Given the description of an element on the screen output the (x, y) to click on. 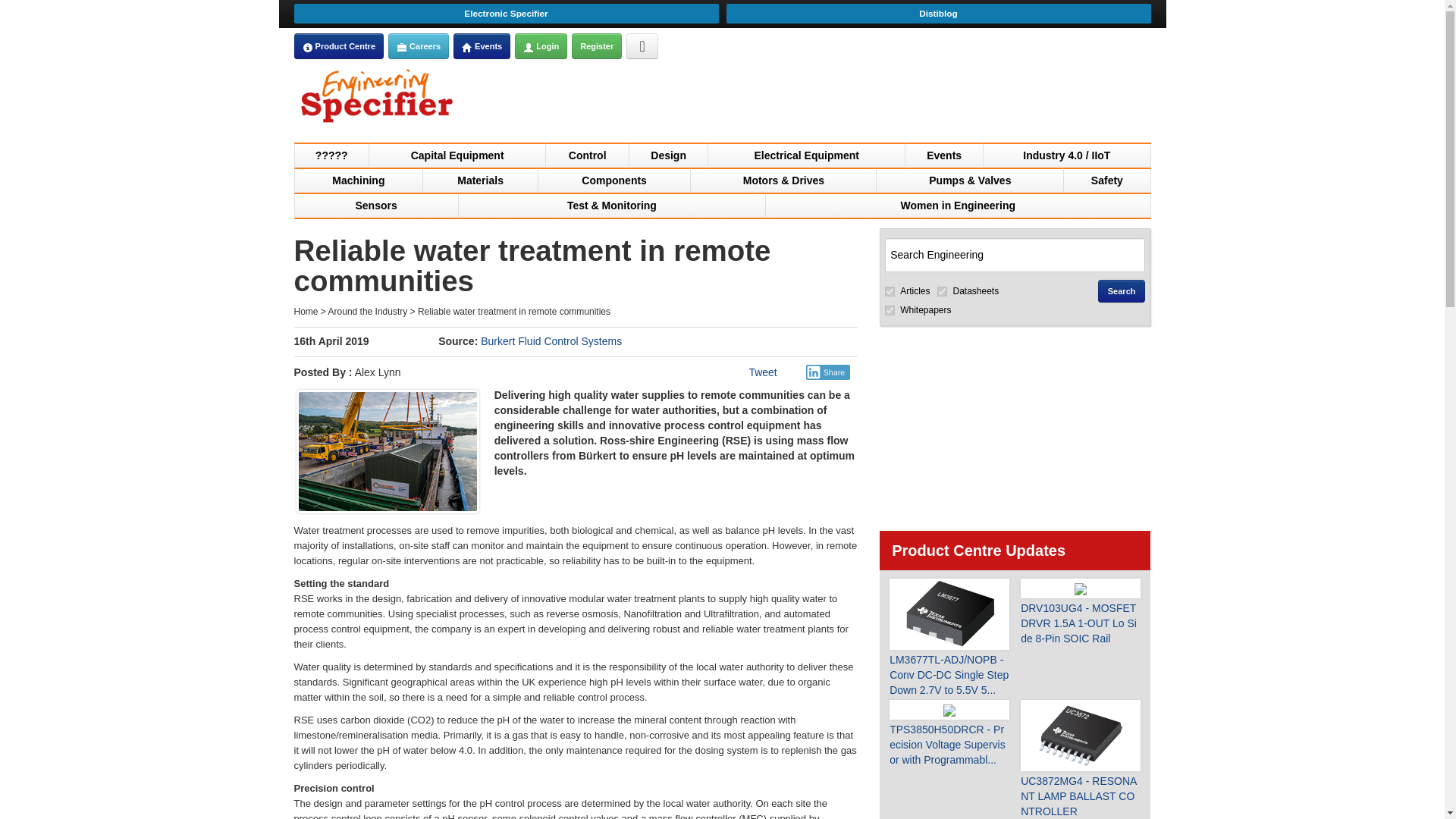
Around the Industry (368, 311)
 Careers (418, 45)
DRV103UG4 - MOSFET DRVR 1.5A 1-OUT Lo Side 8-Pin SOIC Rail (1079, 611)
UC3872MG4 - RESONANT LAMP BALLAST CONTROLLER (1079, 758)
Electrical Equipment (805, 155)
Capital Equipment (457, 155)
Control (587, 155)
Safety (1107, 179)
datasheets (942, 291)
 Events (481, 45)
Share (828, 371)
Women in Engineering (957, 205)
Distiblog (938, 13)
????? (331, 155)
articles (890, 291)
